Given the description of an element on the screen output the (x, y) to click on. 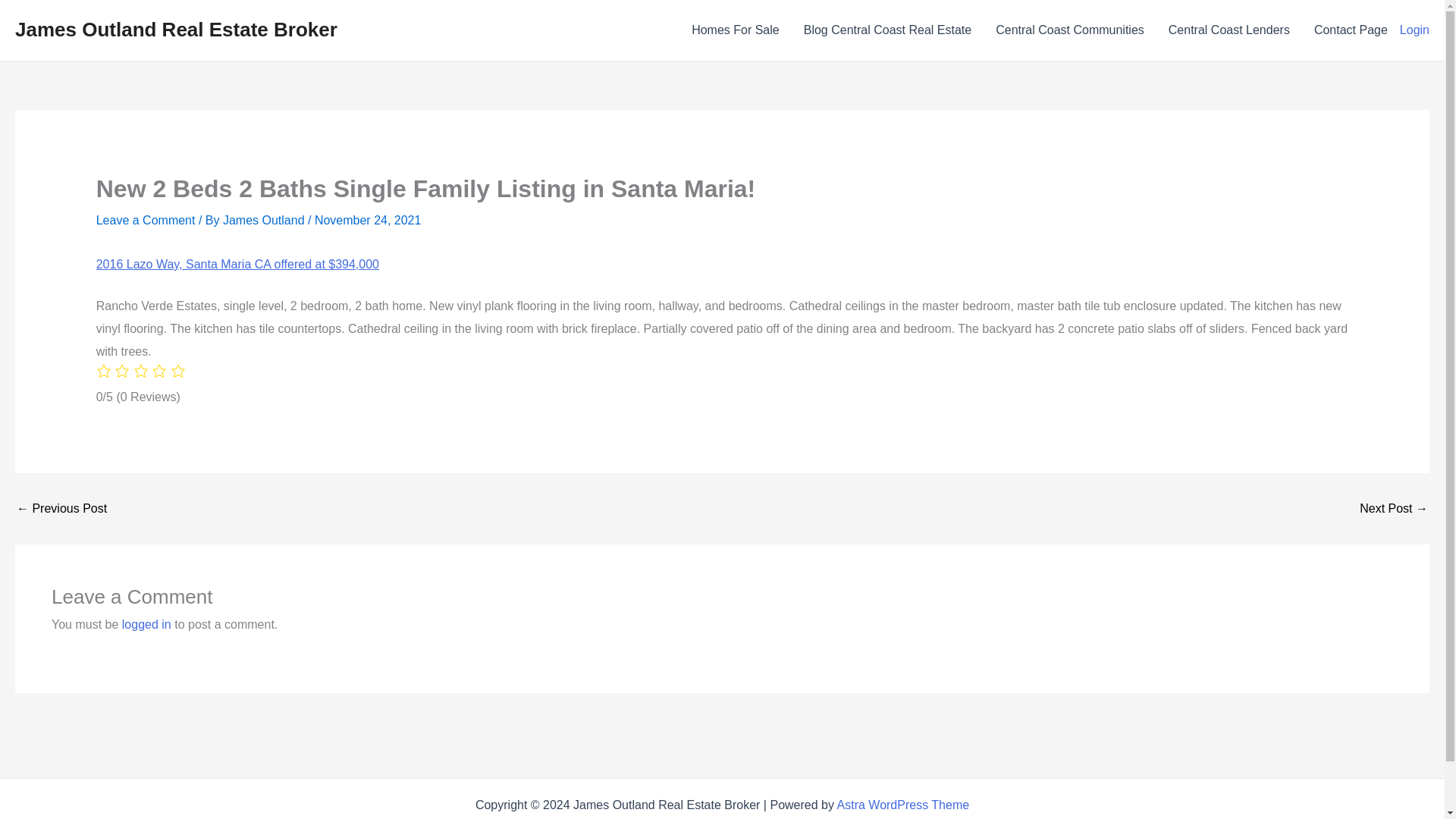
Homes For Sale (735, 30)
Contact Page (1350, 30)
Central Coast Lenders (1228, 30)
Sold 4 Beds 4 Baths Single Family in Atascadero! (1393, 508)
View all posts by James Outland (264, 219)
Central Coast Communities (1070, 30)
James Outland Real Estate Broker (175, 29)
Blog Central Coast Real Estate (888, 30)
